Given the description of an element on the screen output the (x, y) to click on. 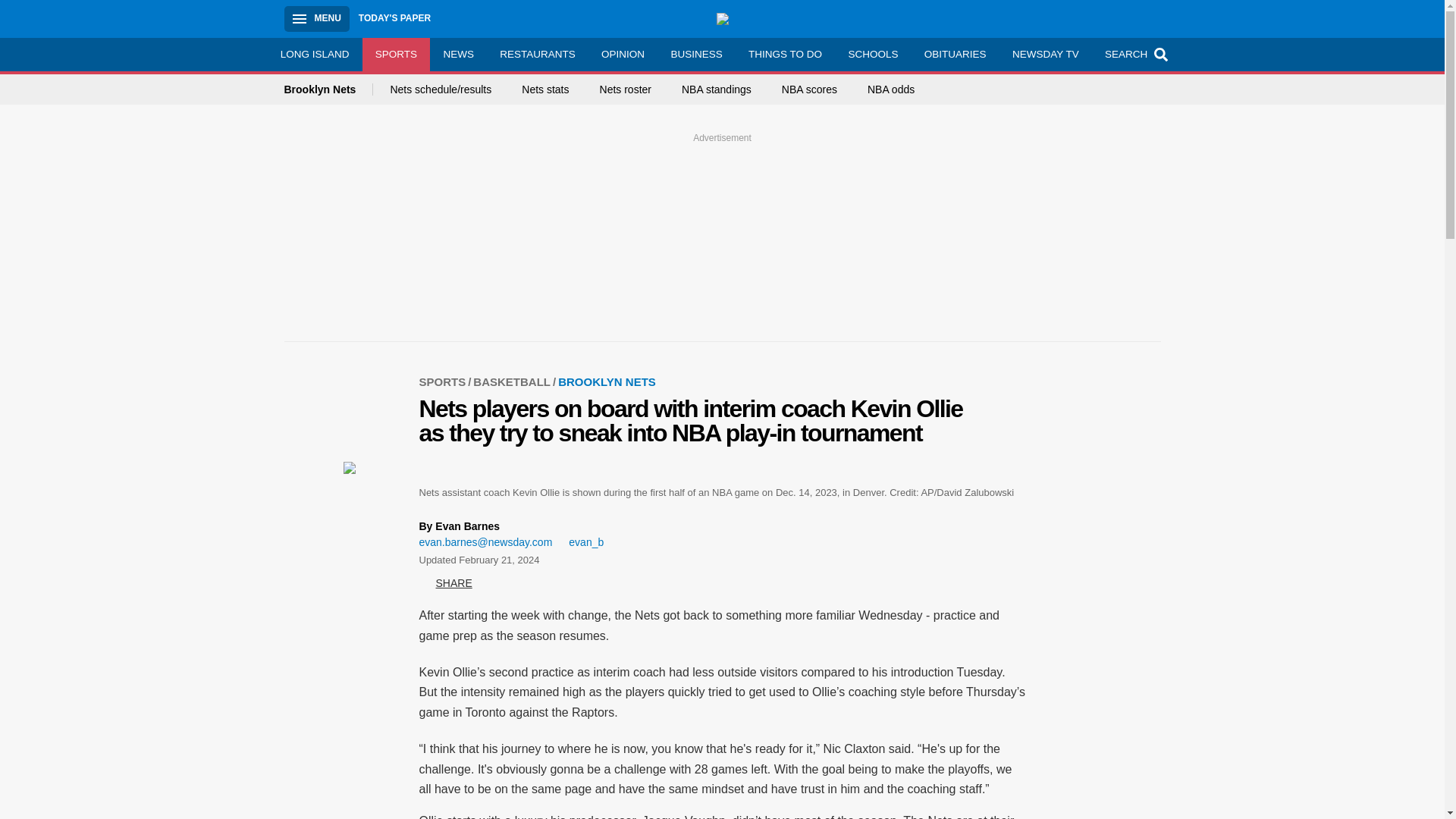
SEARCH (1134, 54)
SCHOOLS (872, 54)
LONG ISLAND (313, 54)
BUSINESS (696, 54)
NBA standings (716, 89)
BASKETBALL (515, 381)
BROOKLYN NETS (606, 381)
OPINION (623, 54)
THINGS TO DO (784, 54)
MENU (316, 18)
